Given the description of an element on the screen output the (x, y) to click on. 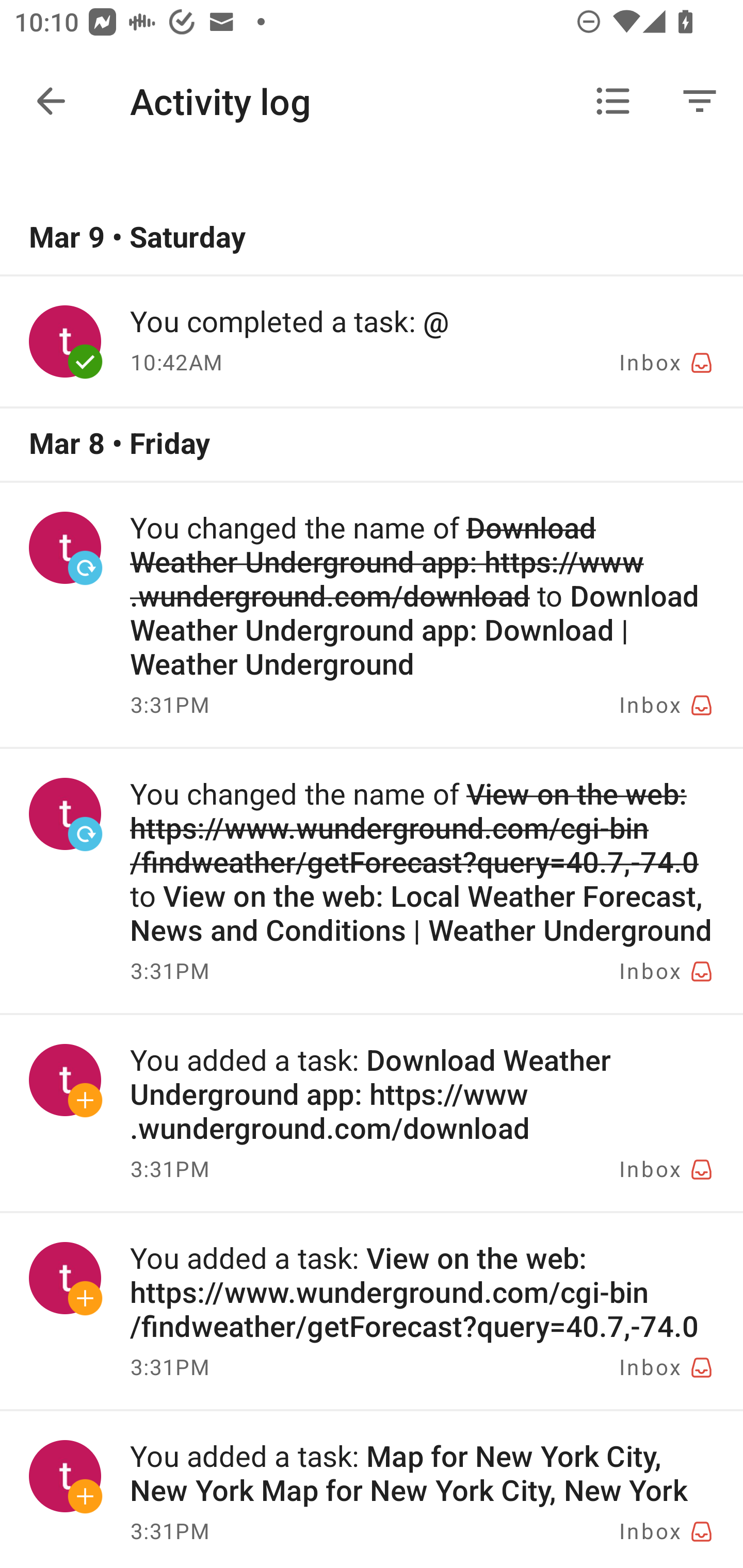
Navigate up (50, 101)
By project (612, 101)
Filter (699, 101)
Mar 9 • Saturday (371, 238)
You completed a task: @ 10:42AM Inbox (371, 340)
Mar 8 • Friday (371, 445)
